Given the description of an element on the screen output the (x, y) to click on. 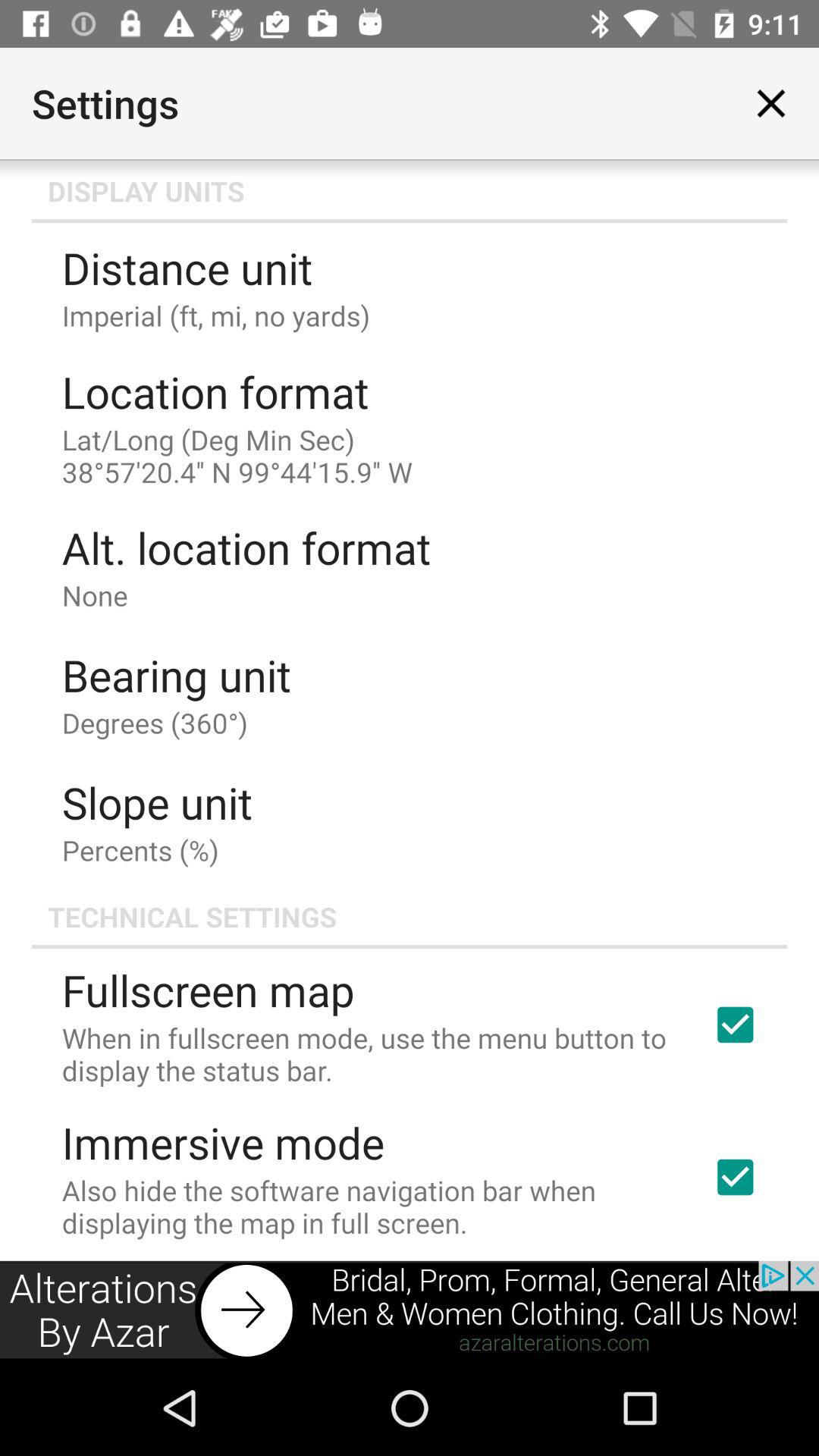
go to advertisement page (409, 1310)
